Given the description of an element on the screen output the (x, y) to click on. 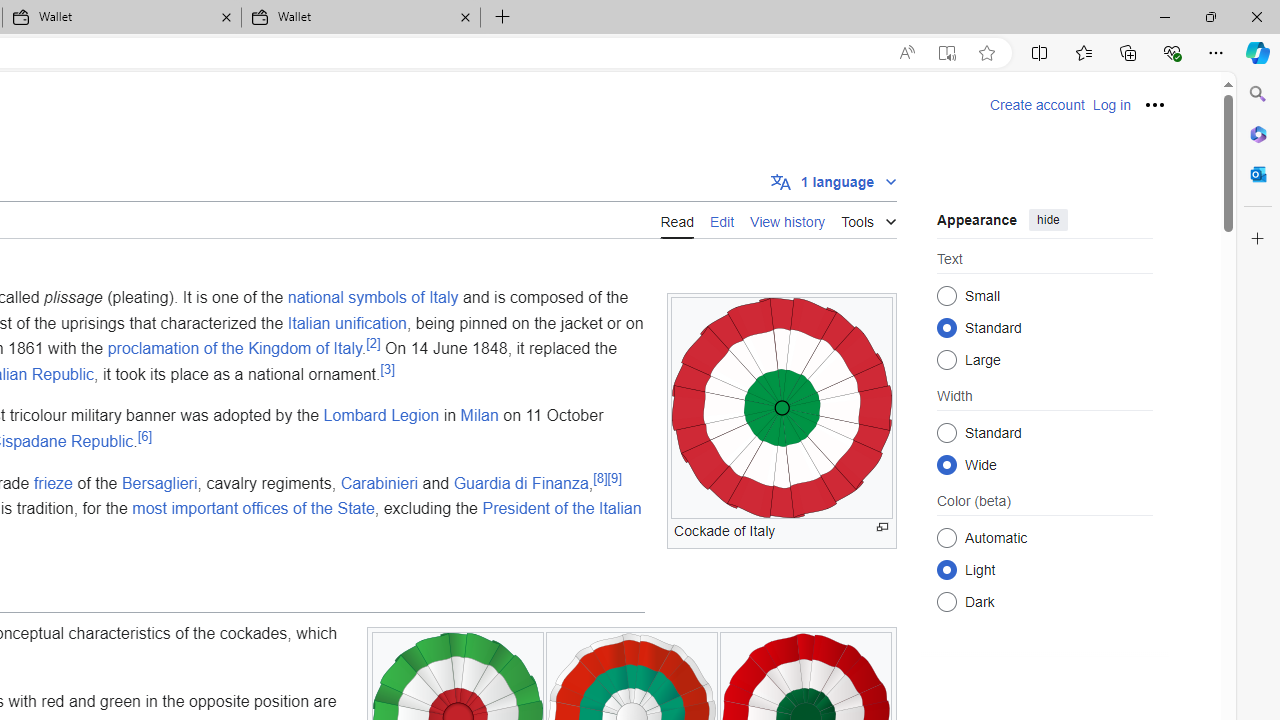
Log in (1111, 105)
Italian unification (346, 322)
[6] (144, 435)
View history (787, 219)
Edit (721, 219)
Large (946, 359)
[3] (387, 368)
Milan (479, 415)
[9] (614, 478)
Wallet (360, 17)
Personal tools (1155, 104)
